Given the description of an element on the screen output the (x, y) to click on. 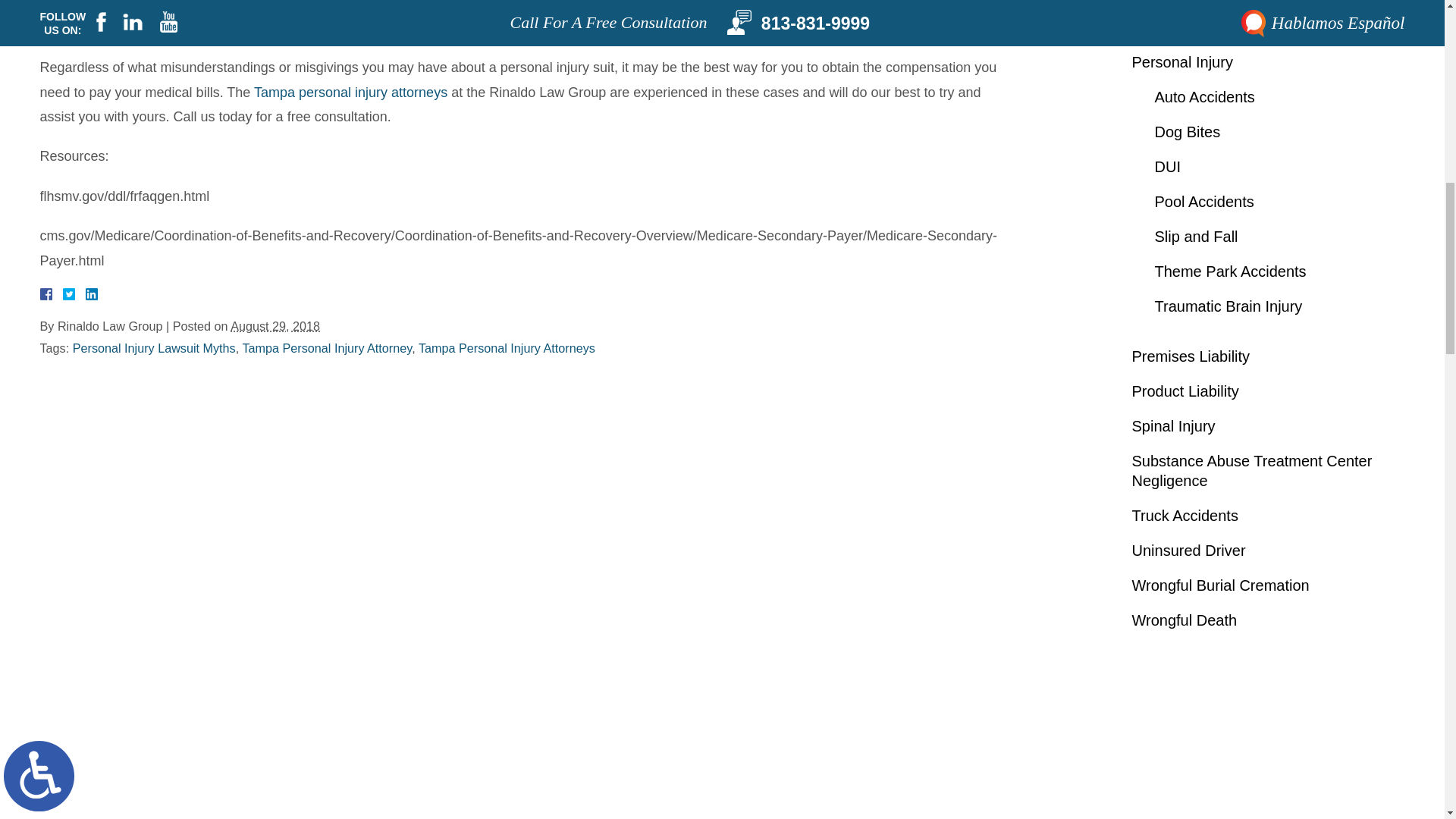
Twitter (74, 294)
LinkedIn (85, 294)
Facebook (63, 294)
2018-08-29T03:00:48-0700 (275, 325)
